Given the description of an element on the screen output the (x, y) to click on. 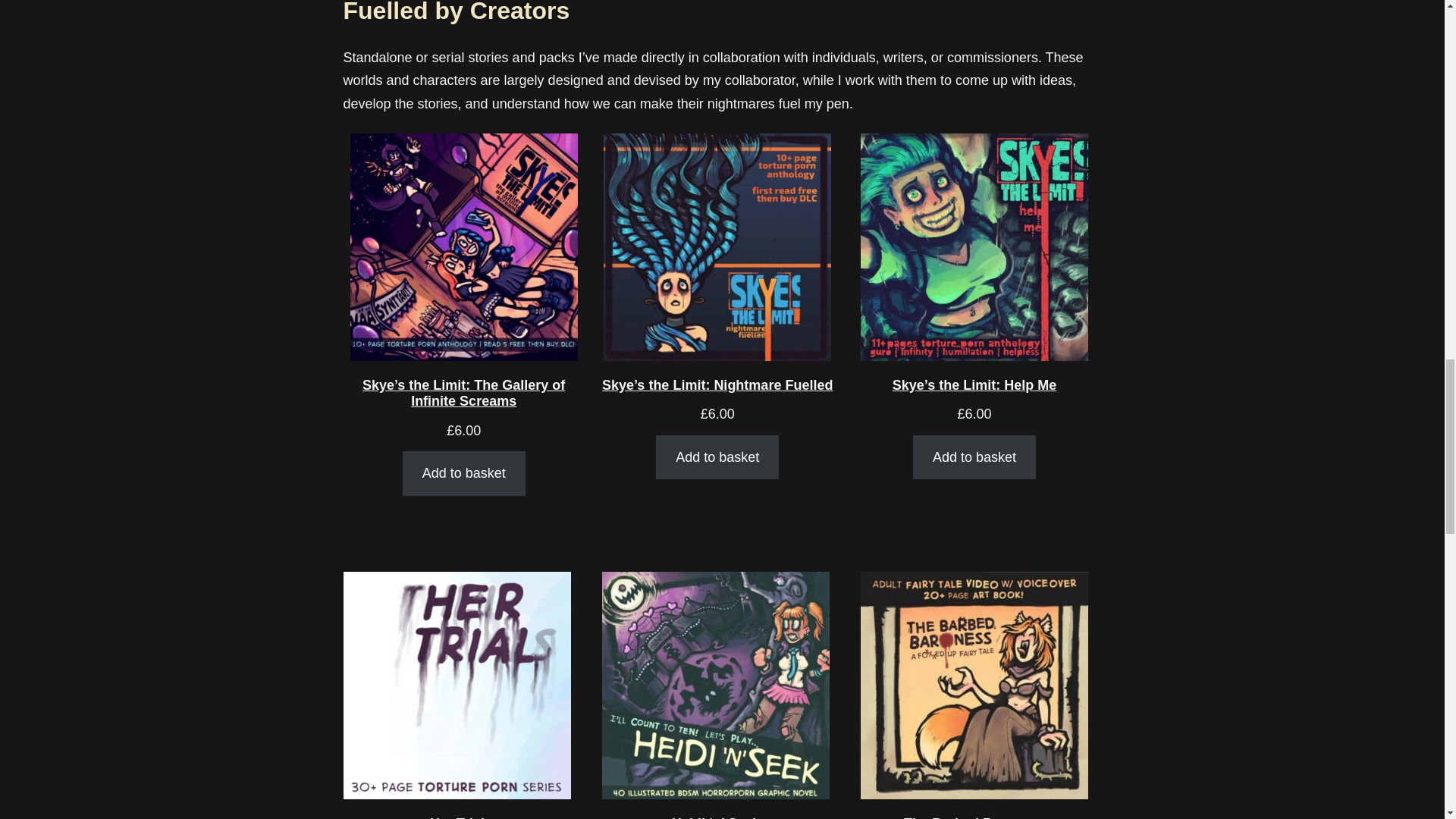
Add to basket (462, 474)
Her Trial (456, 695)
The Barbed Baroness (973, 695)
Add to basket (973, 456)
Add to basket (717, 456)
